Given the description of an element on the screen output the (x, y) to click on. 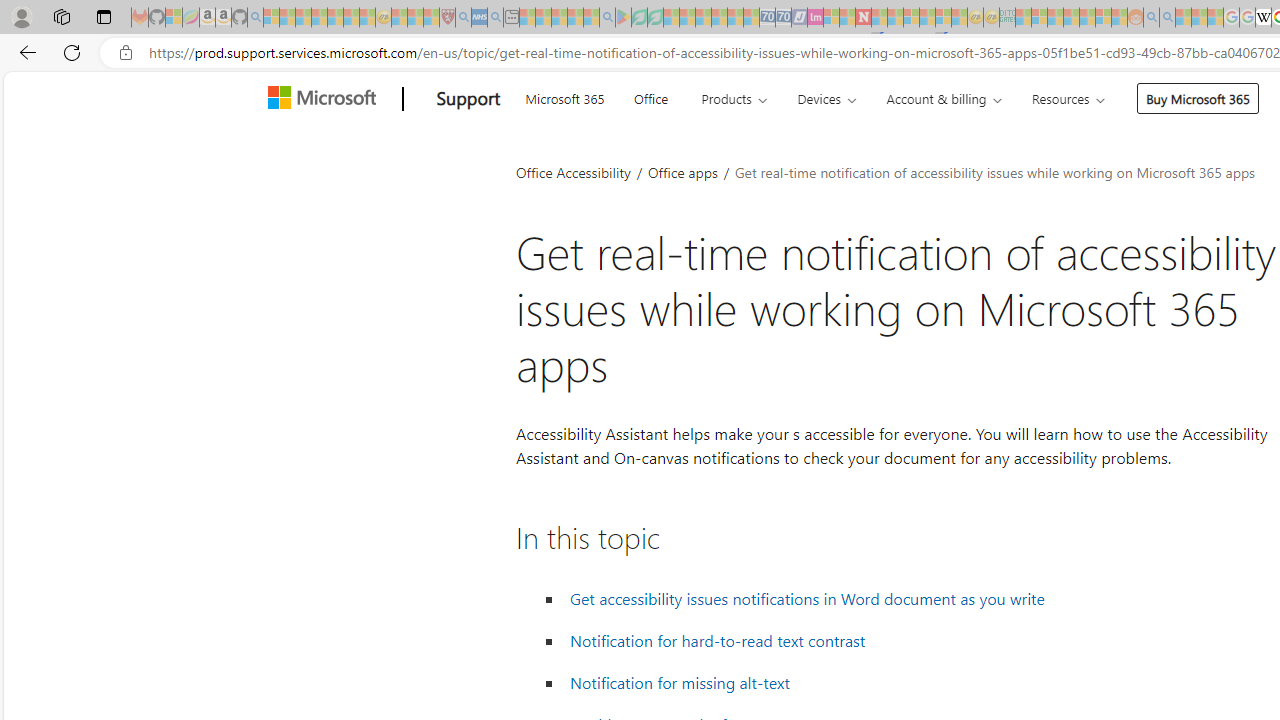
 Notification for missing alt-text (679, 682)
Buy Microsoft 365 (1197, 97)
Buy Microsoft 365 (1197, 98)
Support (468, 99)
